Given the description of an element on the screen output the (x, y) to click on. 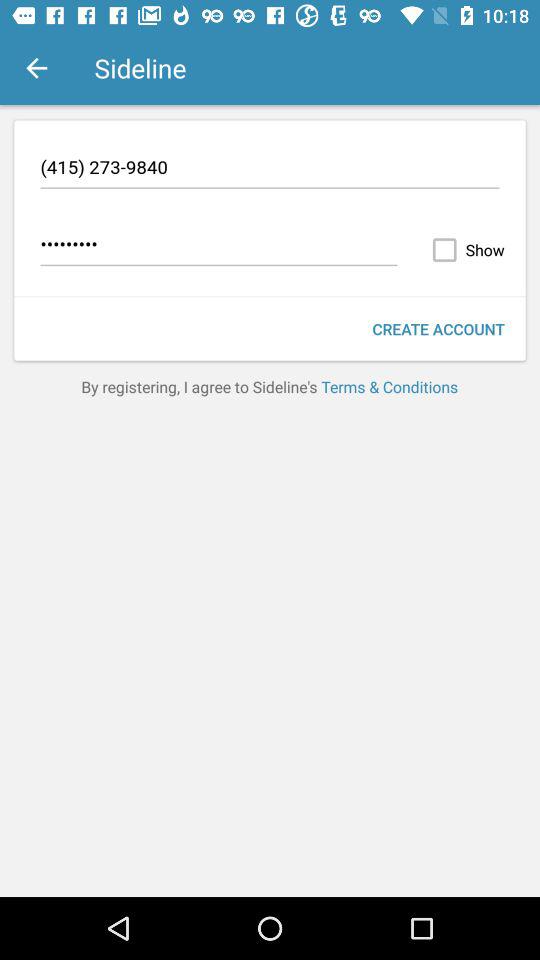
click item next to the crowd3116 (463, 250)
